Given the description of an element on the screen output the (x, y) to click on. 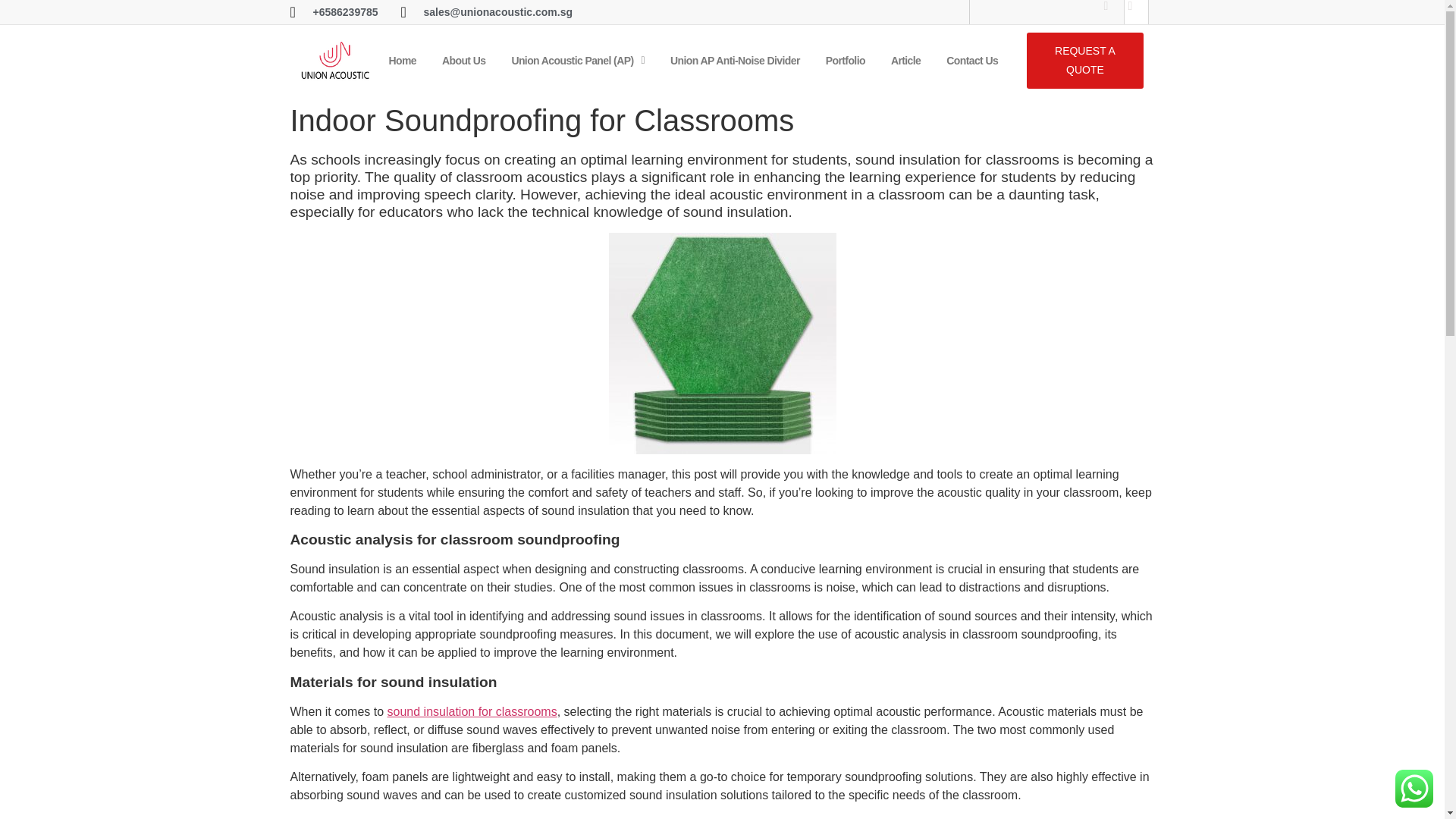
Portfolio (844, 60)
About Us (463, 60)
REQUEST A QUOTE (1085, 60)
Union AP Anti-Noise Divider (734, 60)
Contact Us (971, 60)
sound insulation for classrooms (472, 711)
